Given the description of an element on the screen output the (x, y) to click on. 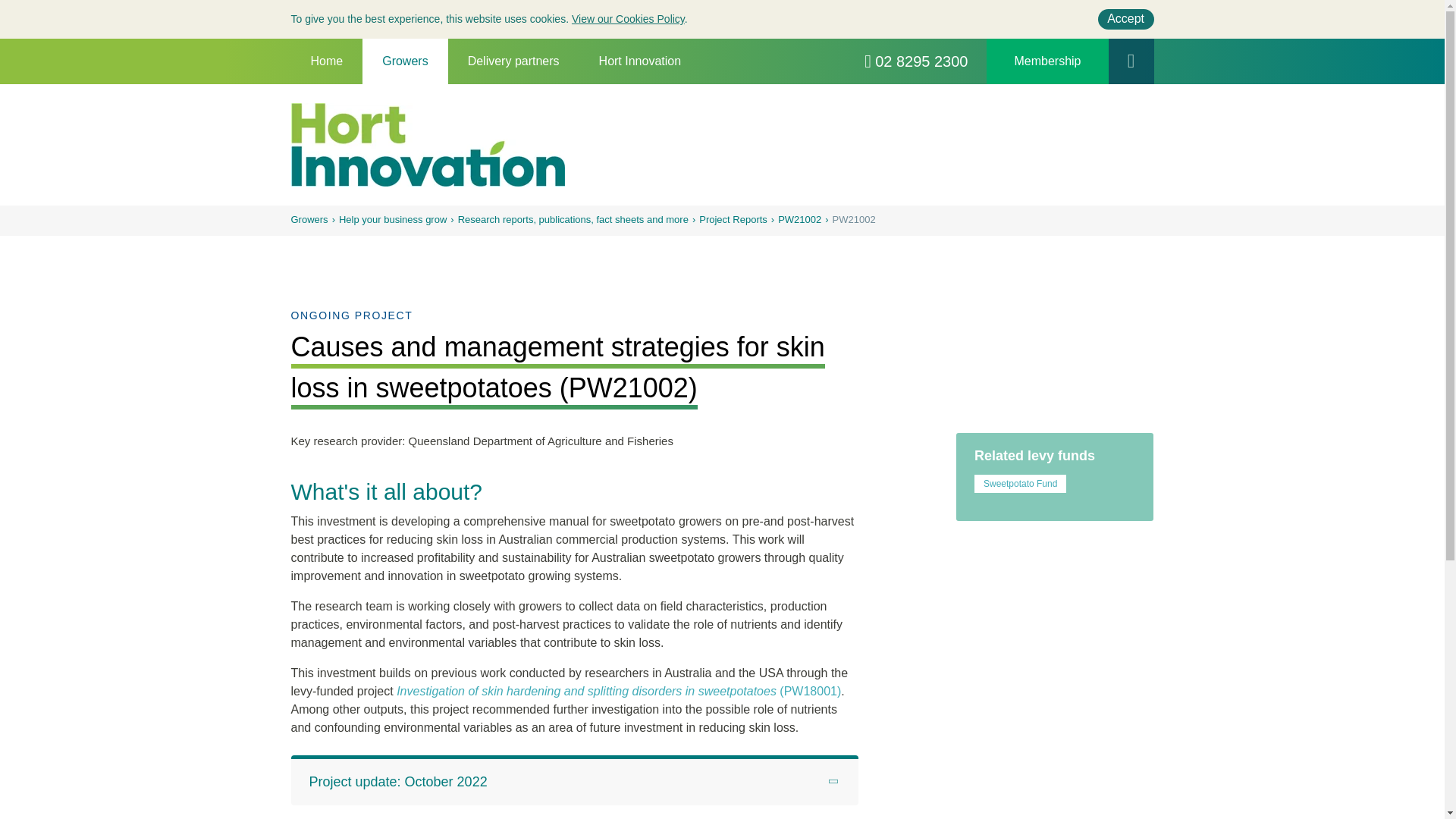
Home (326, 61)
Accept (1125, 19)
Growers (404, 61)
Delivery partners (513, 61)
02 8295 2300 (916, 60)
View our Cookies Policy (628, 19)
